Given the description of an element on the screen output the (x, y) to click on. 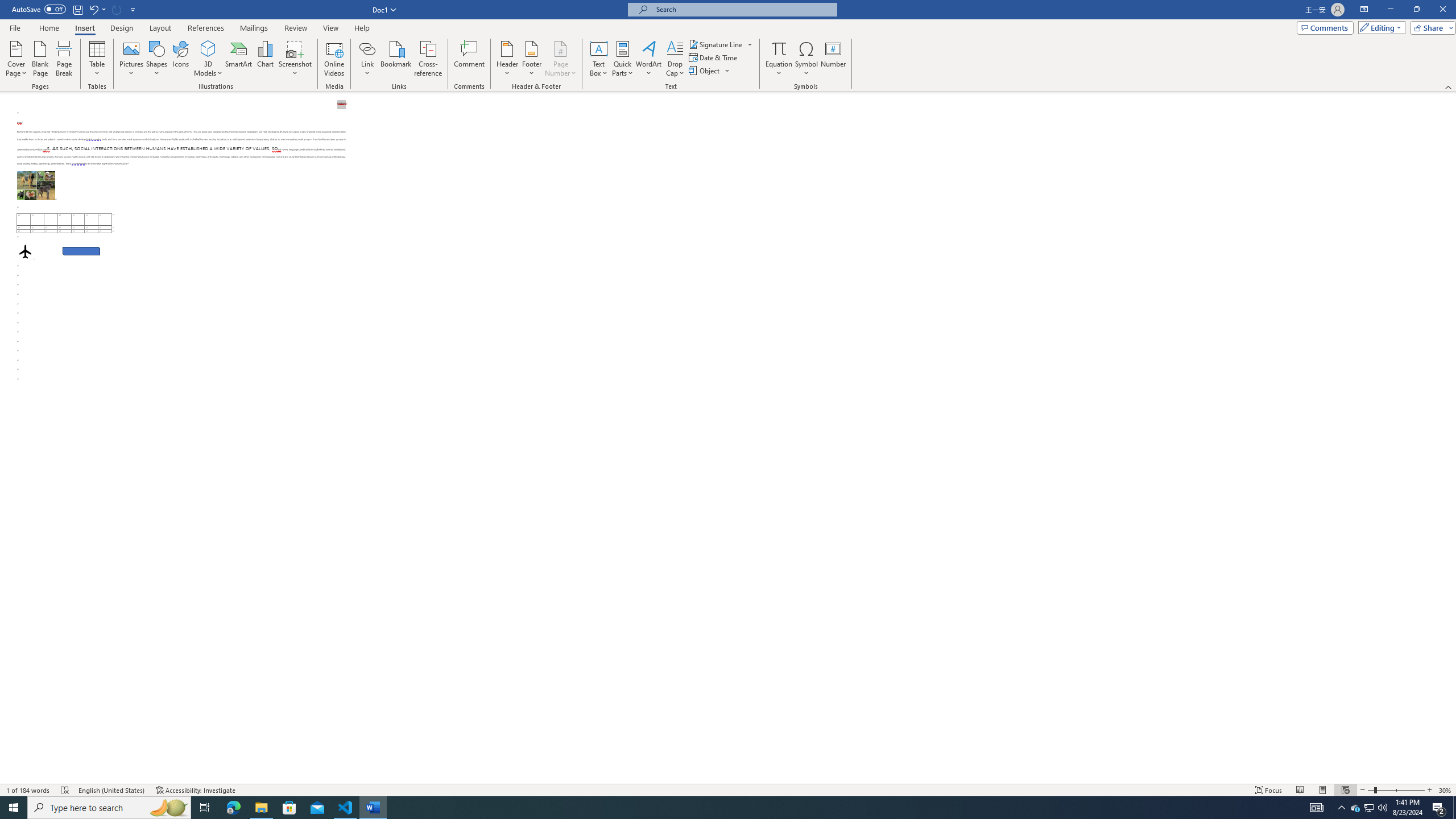
Morphological variation in six dogs (36, 185)
Help (361, 28)
3D Models (208, 48)
Undo Apply Quick Style Set (96, 9)
Screenshot (295, 58)
Text Box (598, 58)
3D Models (208, 58)
Zoom 30% (1445, 790)
